Given the description of an element on the screen output the (x, y) to click on. 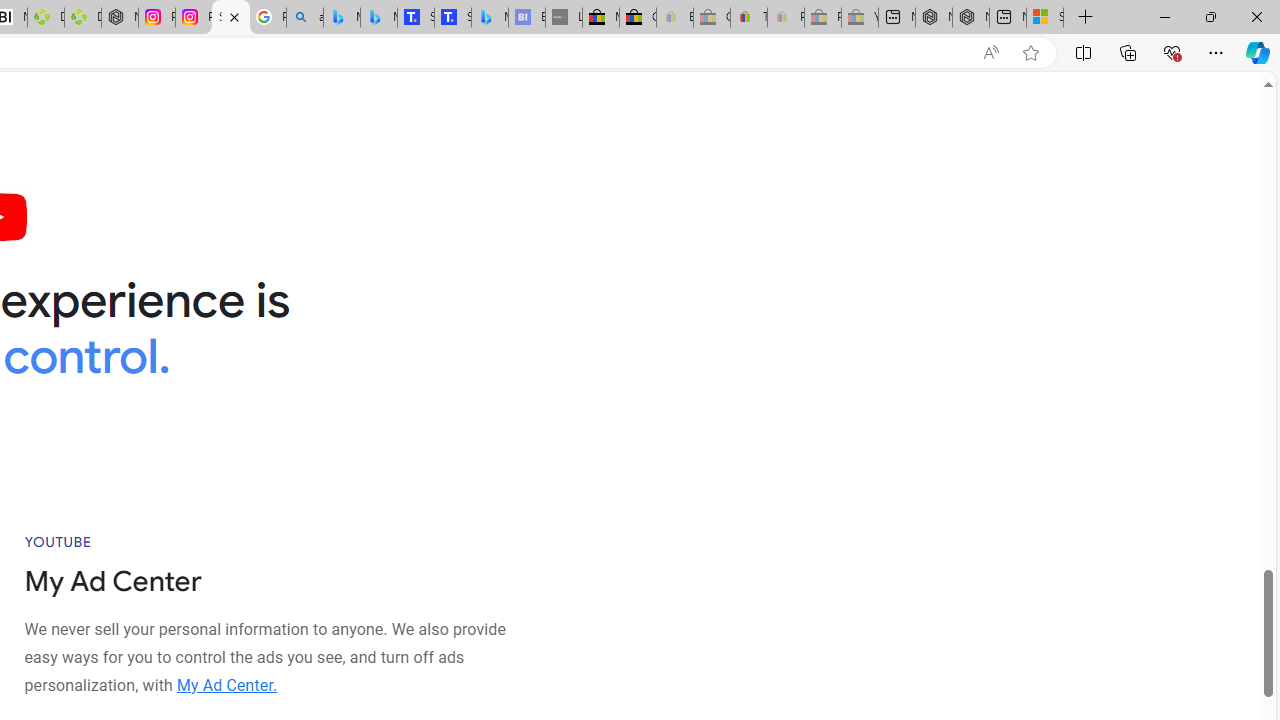
Safety in Our Products - Google Safety Center (230, 17)
Payments Terms of Use | eBay.com - Sleeping (785, 17)
Shangri-La Bangkok, Hotel reviews and Room rates (453, 17)
Yard, Garden & Outdoor Living - Sleeping (860, 17)
Threats and offensive language policy | eBay (748, 17)
Microsoft Bing Travel - Shangri-La Hotel Bangkok (490, 17)
